Given the description of an element on the screen output the (x, y) to click on. 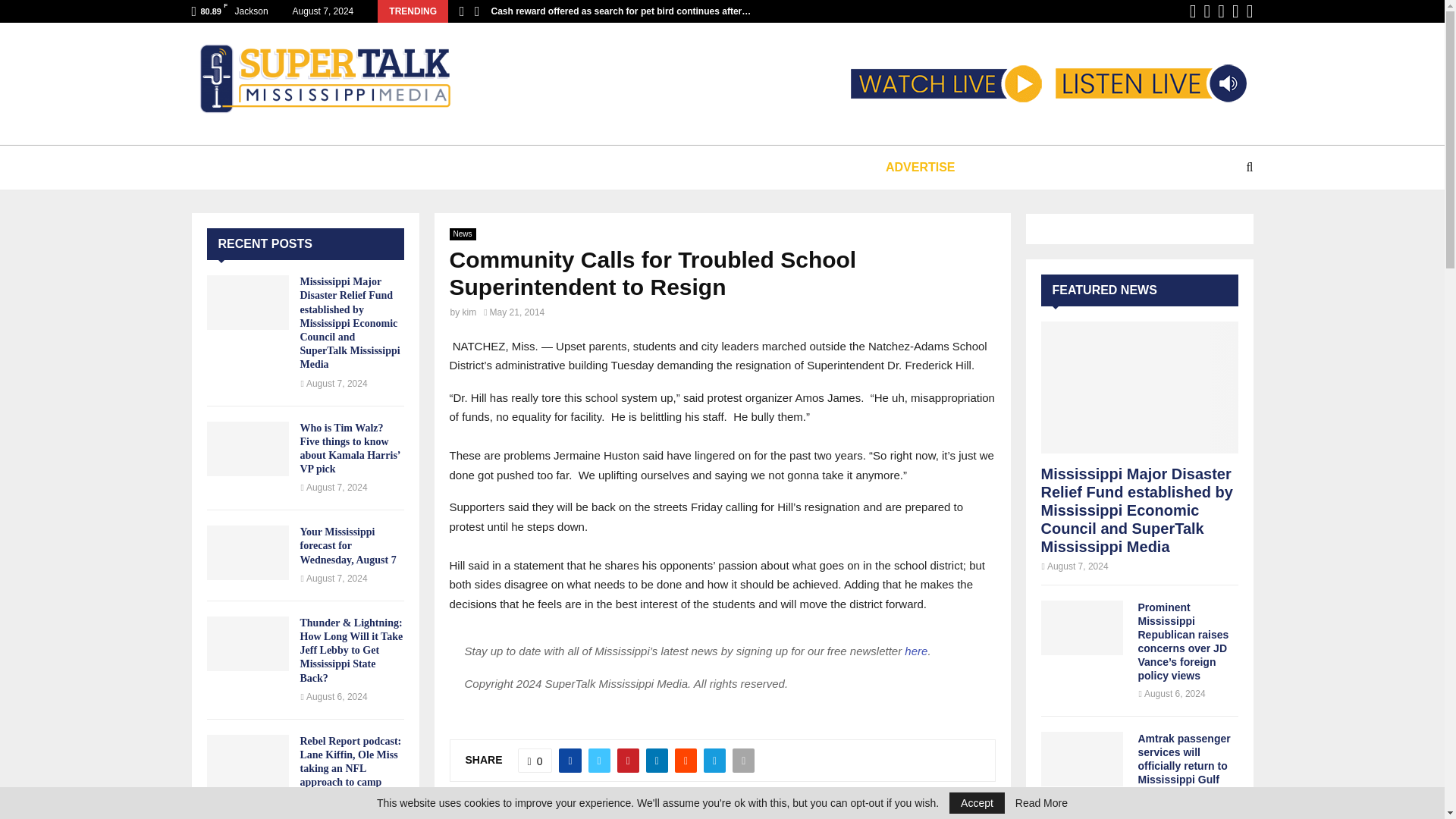
TUNE IN (255, 167)
STATIONS (345, 167)
Like (535, 760)
